Given the description of an element on the screen output the (x, y) to click on. 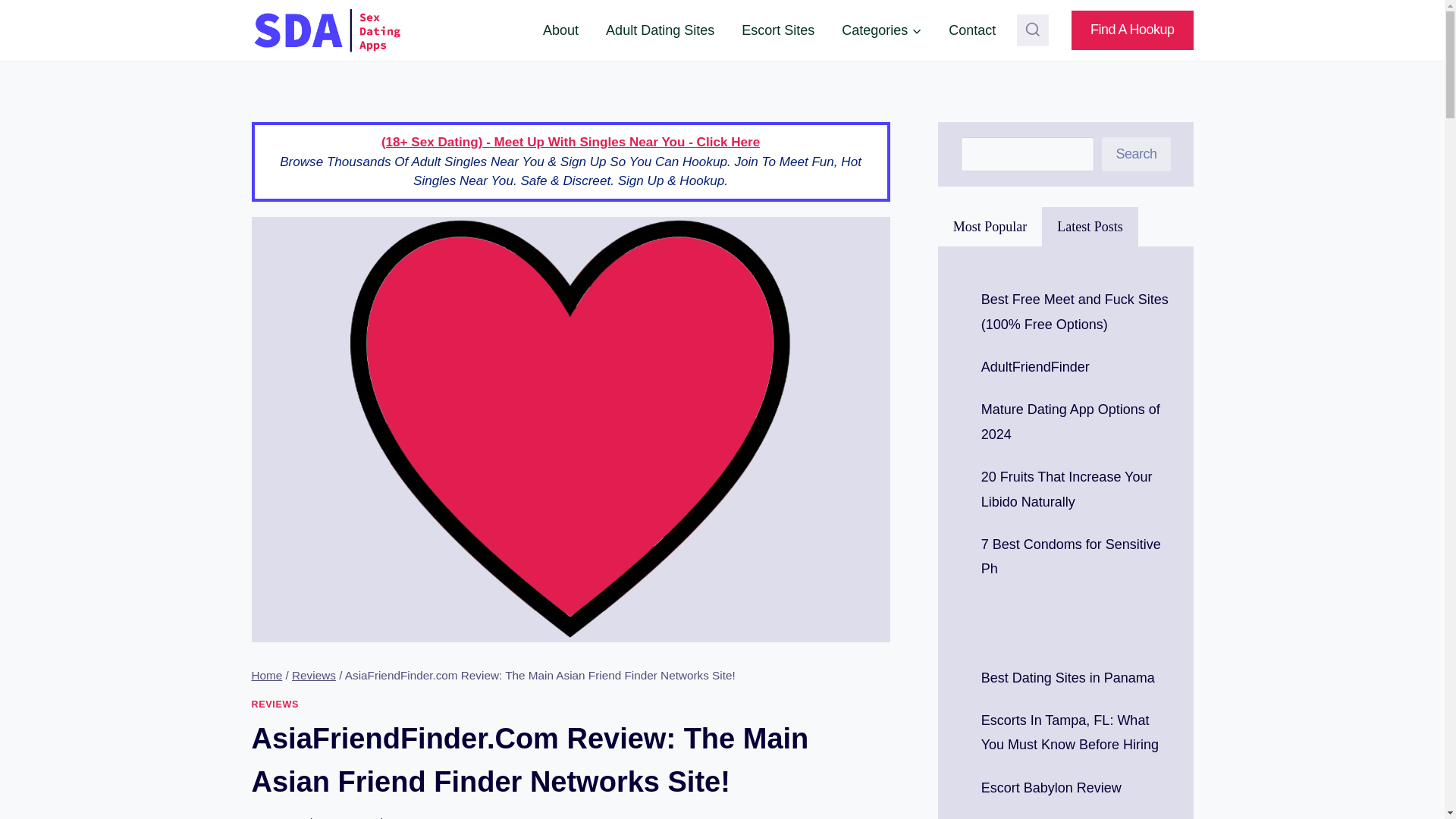
Find A Hookup (1132, 29)
Contact (971, 30)
Home (266, 675)
Adult Dating Sites (660, 30)
Escort Sites (778, 30)
Reviews (314, 675)
REVIEWS (275, 704)
Ryan Malone (298, 817)
Learn More (560, 30)
Categories (881, 30)
About (560, 30)
